Given the description of an element on the screen output the (x, y) to click on. 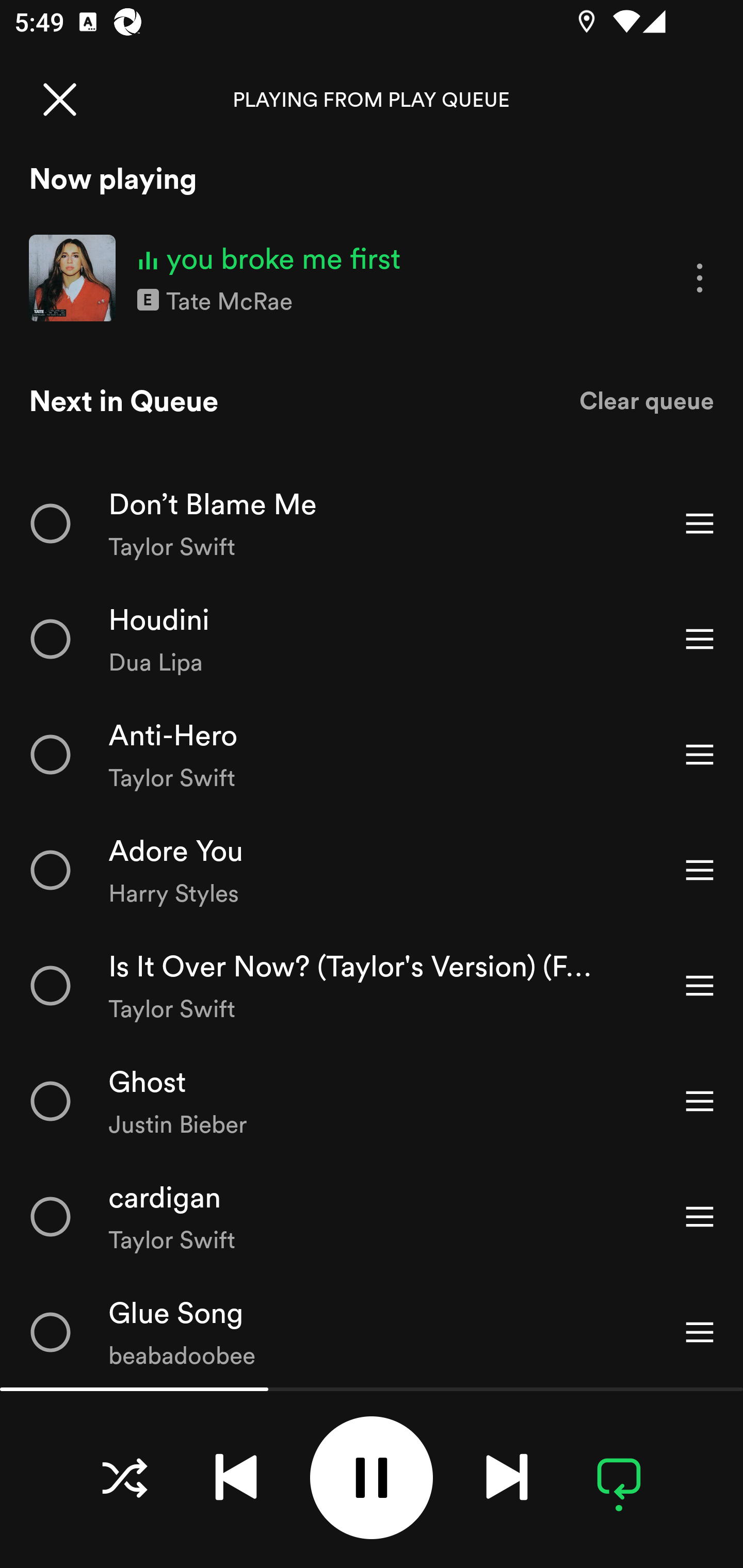
Close (59, 99)
PLAYING FROM PLAY QUEUE (371, 99)
More options for song you broke me first (699, 278)
Clear queue (646, 400)
Don’t Blame Me Taylor Swift Reorder track (371, 523)
Houdini Dua Lipa Reorder track (371, 638)
Anti-Hero Taylor Swift Reorder track (371, 754)
Adore You Harry Styles Reorder track (371, 870)
Ghost Justin Bieber Reorder track (371, 1100)
cardigan Taylor Swift Reorder track (371, 1216)
Glue Song beabadoobee Reorder track (371, 1330)
Pause (371, 1477)
Previous (235, 1477)
Next (507, 1477)
Choose a Listening Mode (123, 1477)
Repeat (618, 1477)
